Given the description of an element on the screen output the (x, y) to click on. 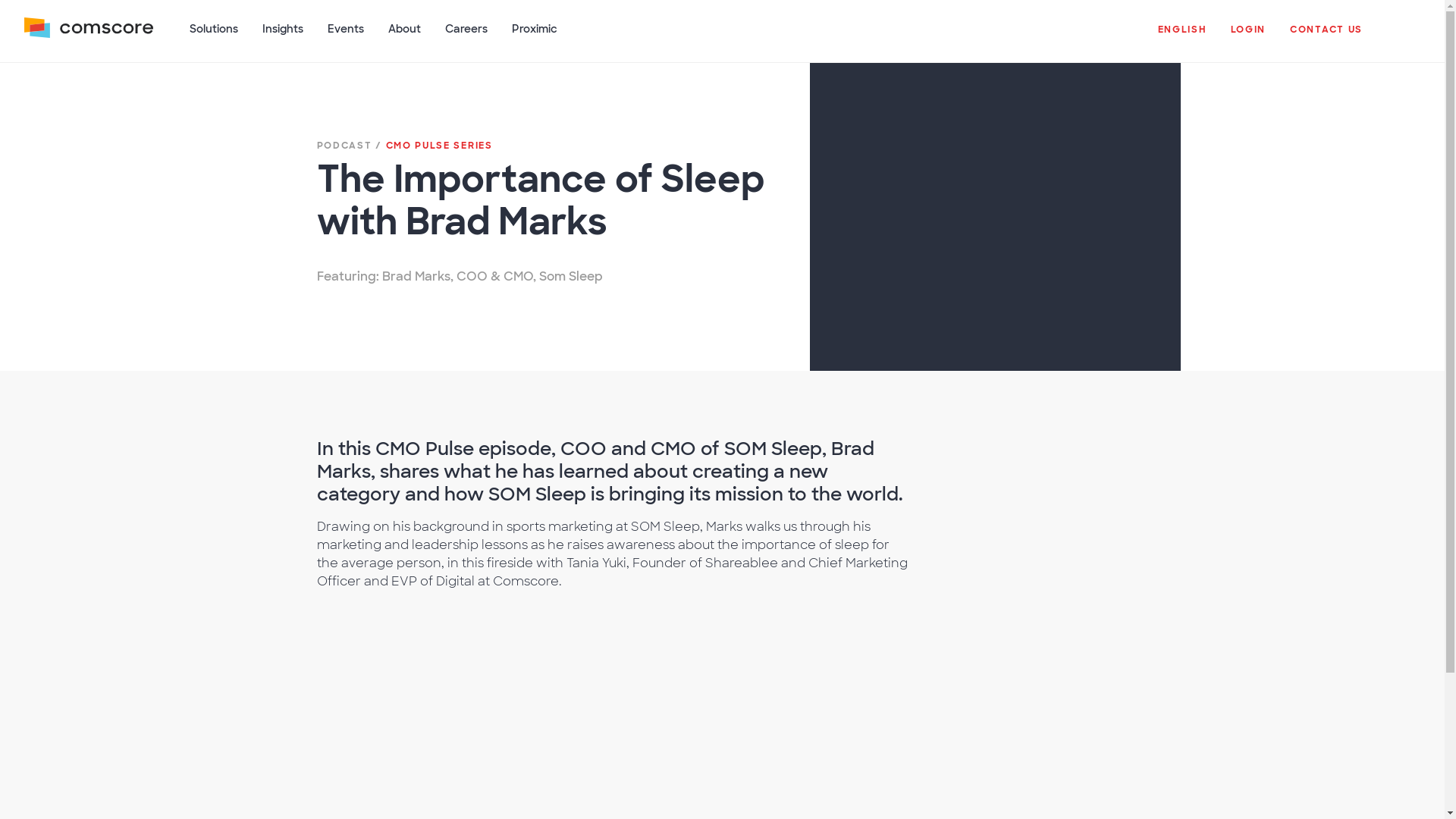
About (403, 37)
Insights (282, 37)
Events (345, 37)
Solutions (213, 37)
Solutions (213, 37)
Home (88, 37)
Insights (282, 37)
